Given the description of an element on the screen output the (x, y) to click on. 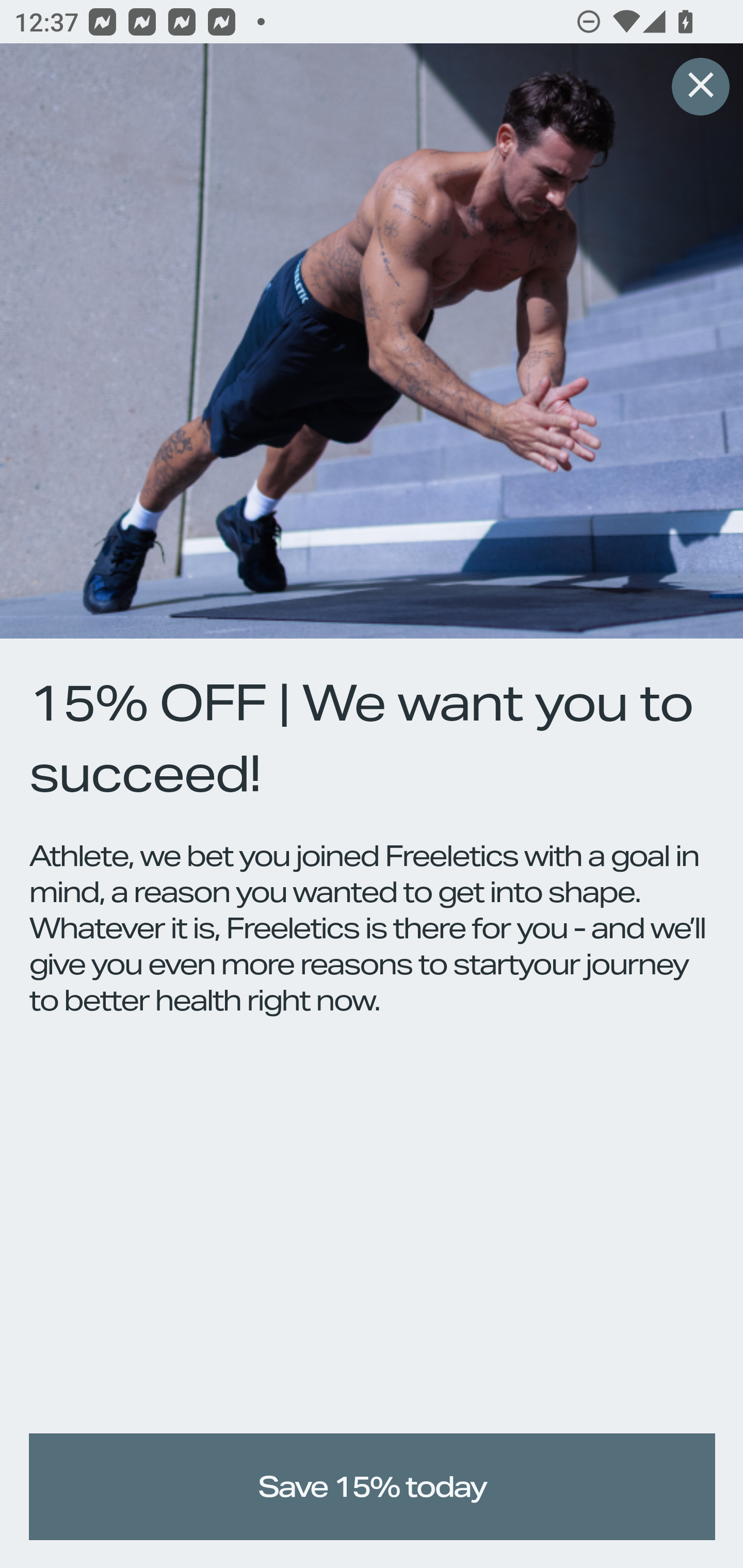
Save 15% today (372, 1486)
